Given the description of an element on the screen output the (x, y) to click on. 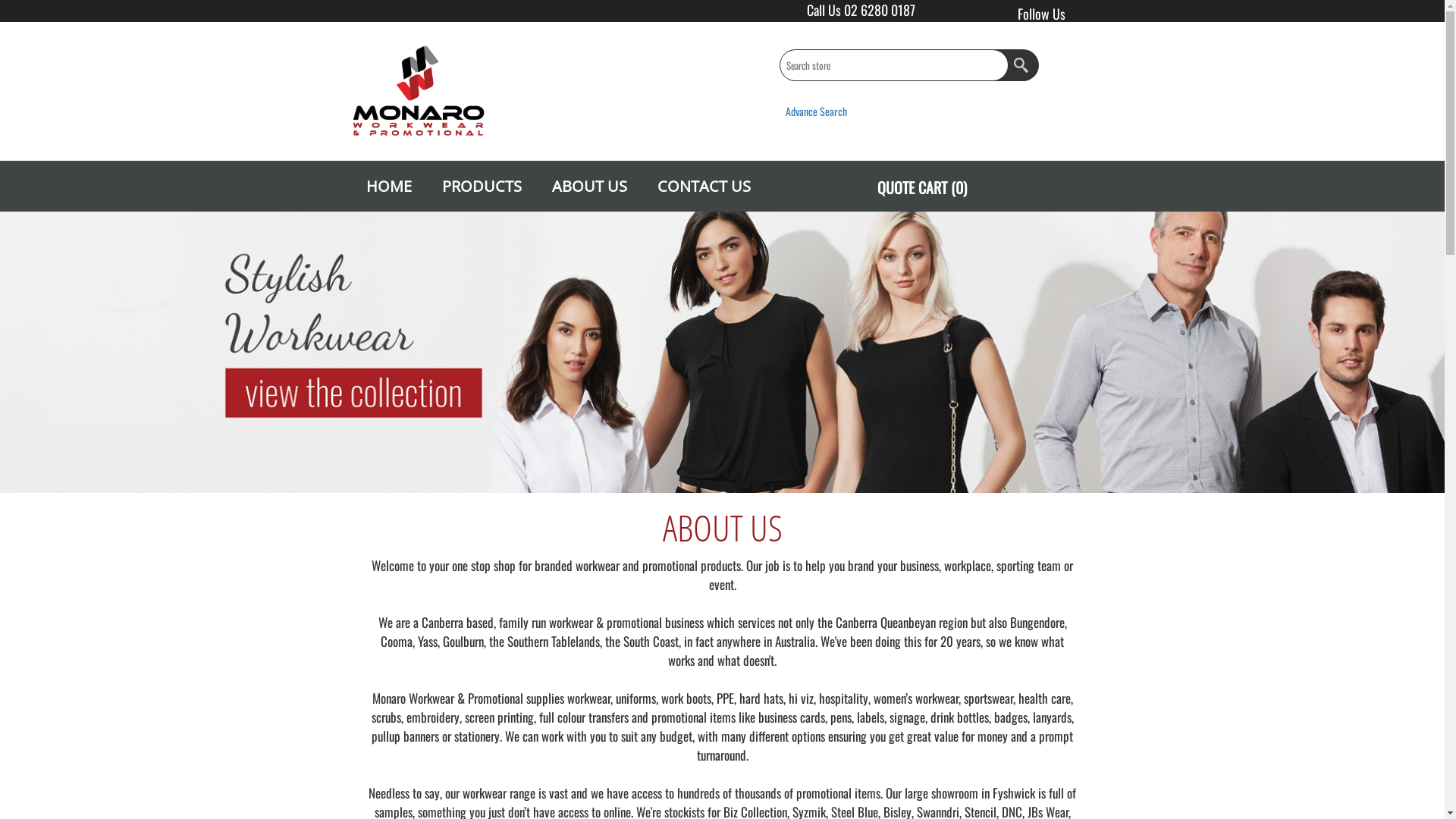
CONTACT US Element type: text (703, 185)
Follow Us Element type: text (1029, 13)
Search Element type: text (1022, 65)
QUOTE CART (0) Element type: text (921, 186)
PRODUCTS Element type: text (481, 185)
ABOUT US Element type: text (589, 185)
HOME Element type: text (388, 185)
Advance Search Element type: text (816, 111)
